Given the description of an element on the screen output the (x, y) to click on. 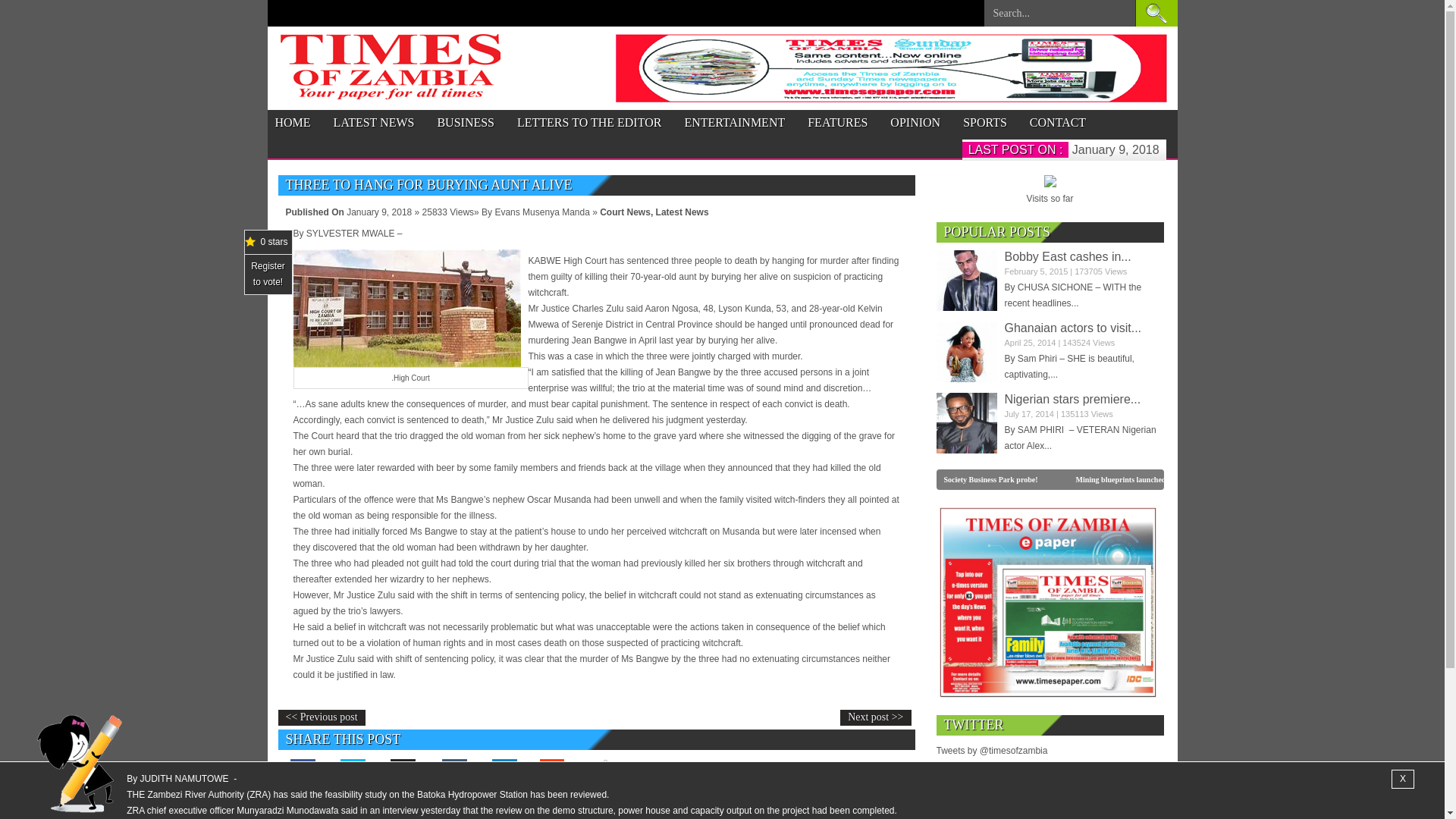
OPINION (914, 122)
Court News (624, 212)
Search... (1059, 17)
HOME (292, 122)
Bobby East  cashes in at  The Bank Cafe (1067, 256)
Linkedin (502, 770)
Register (267, 266)
Mining blueprints launched (1139, 479)
Facebook (303, 770)
Tumblr (453, 770)
